Given the description of an element on the screen output the (x, y) to click on. 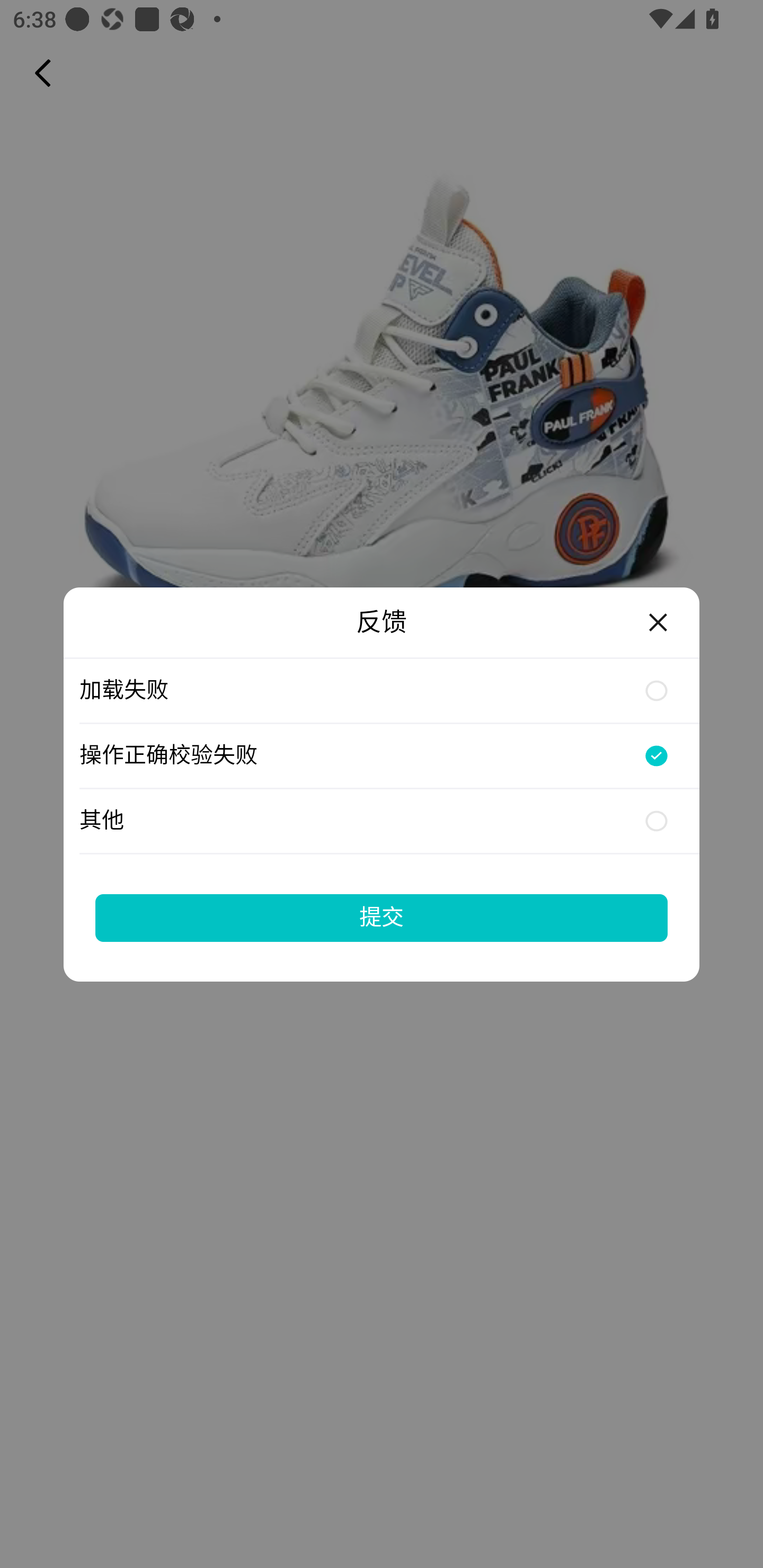
提交 (381, 917)
